Given the description of an element on the screen output the (x, y) to click on. 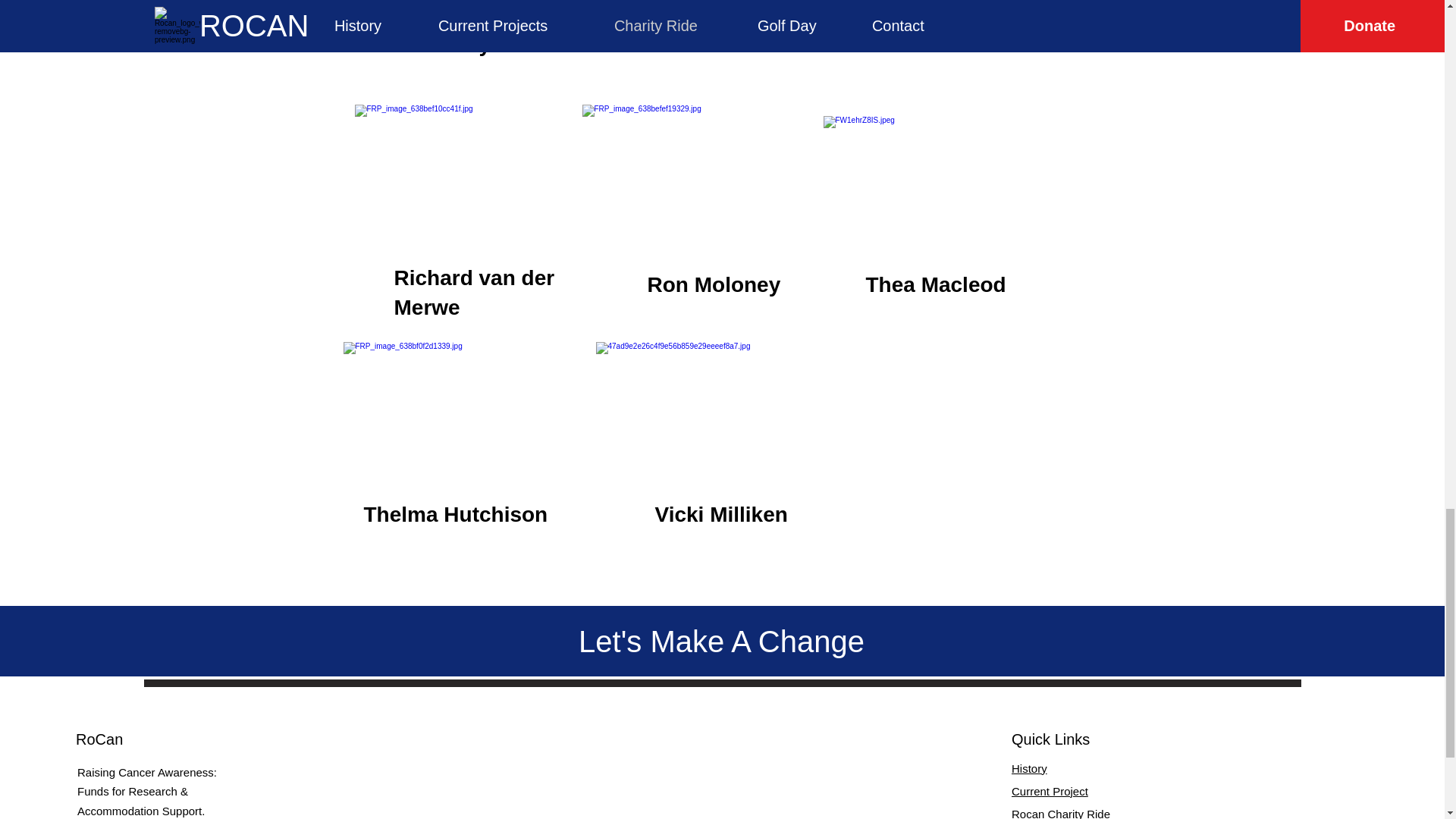
Rocan Charity Ride (1060, 813)
History (1028, 768)
Current Project (1049, 790)
